Given the description of an element on the screen output the (x, y) to click on. 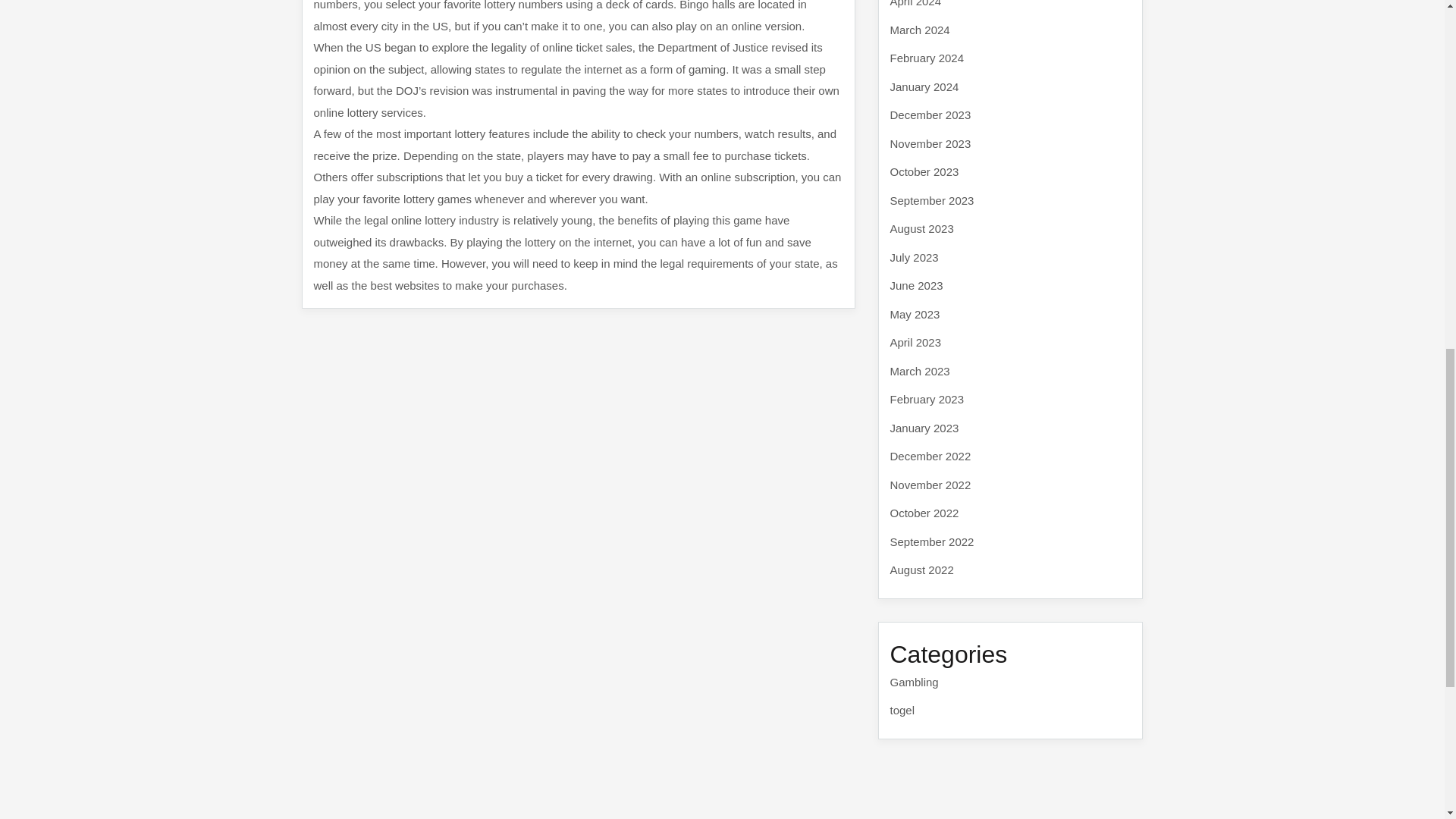
April 2024 (915, 3)
February 2024 (926, 57)
March 2024 (919, 29)
